Given the description of an element on the screen output the (x, y) to click on. 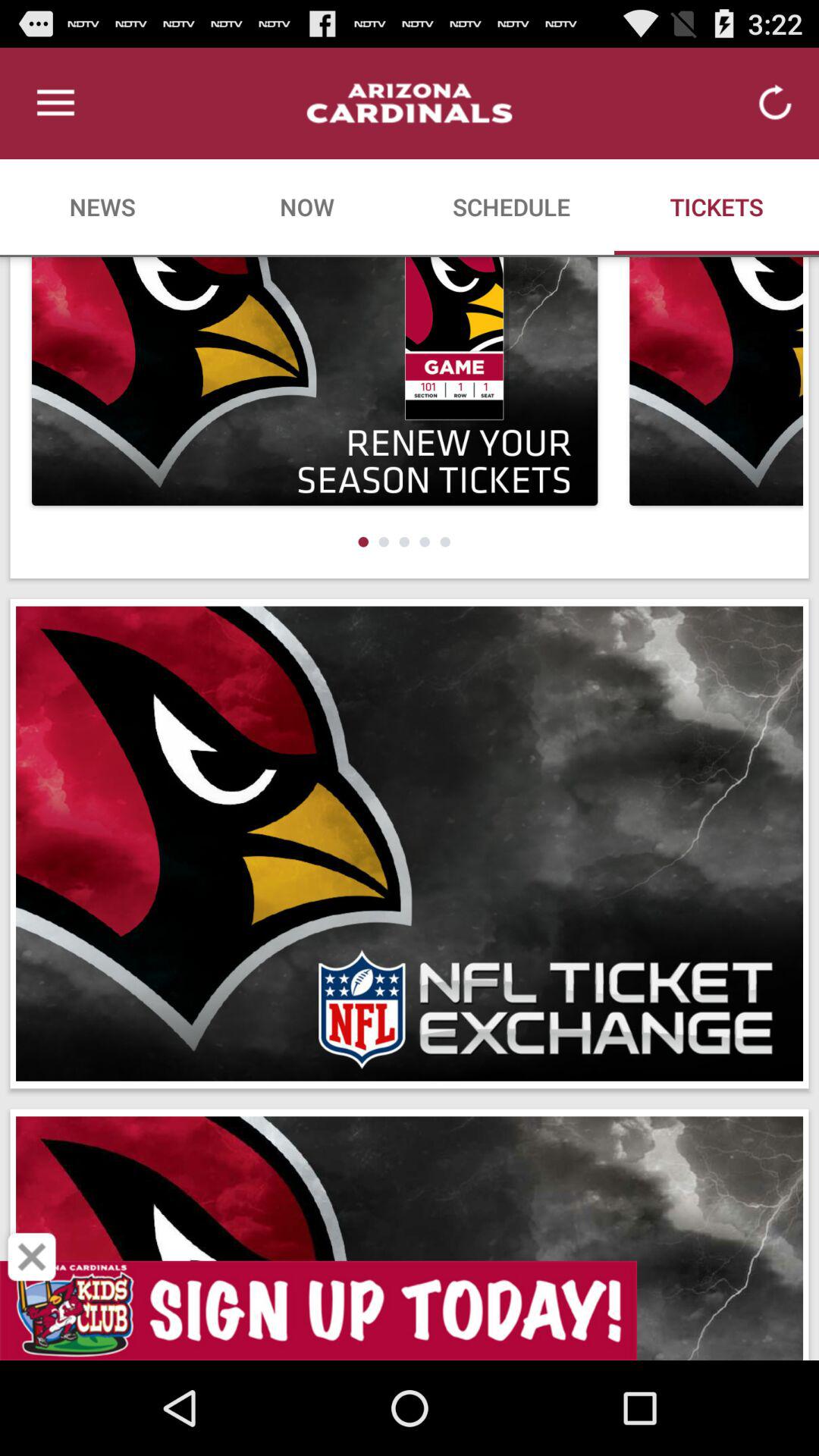
press the icon at the bottom left corner (31, 1256)
